Given the description of an element on the screen output the (x, y) to click on. 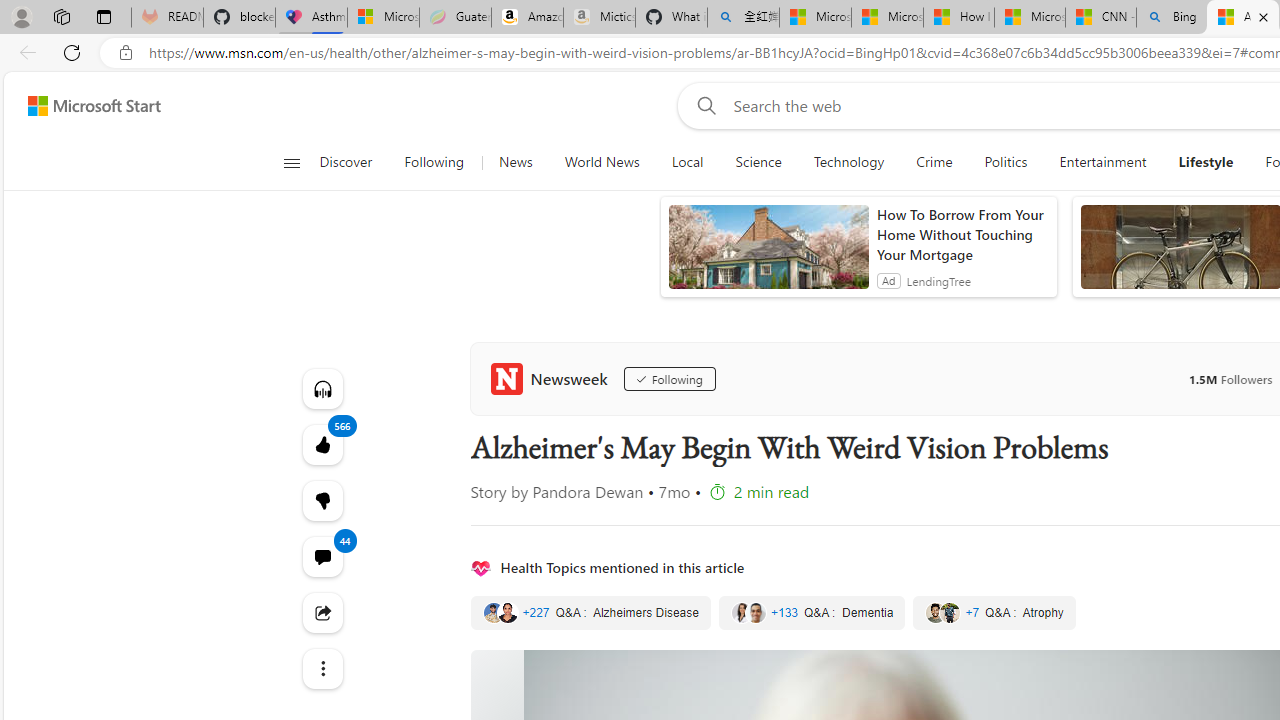
Newsweek (552, 378)
Entertainment (1103, 162)
Science (758, 162)
Microsoft Start (1029, 17)
Technology (848, 162)
Dislike (322, 500)
Science (758, 162)
LendingTree (938, 280)
566 (322, 500)
Dementia (812, 613)
Politics (1005, 162)
Class: at-item (322, 668)
Class: quote-thumbnail (950, 612)
Following (669, 378)
